Given the description of an element on the screen output the (x, y) to click on. 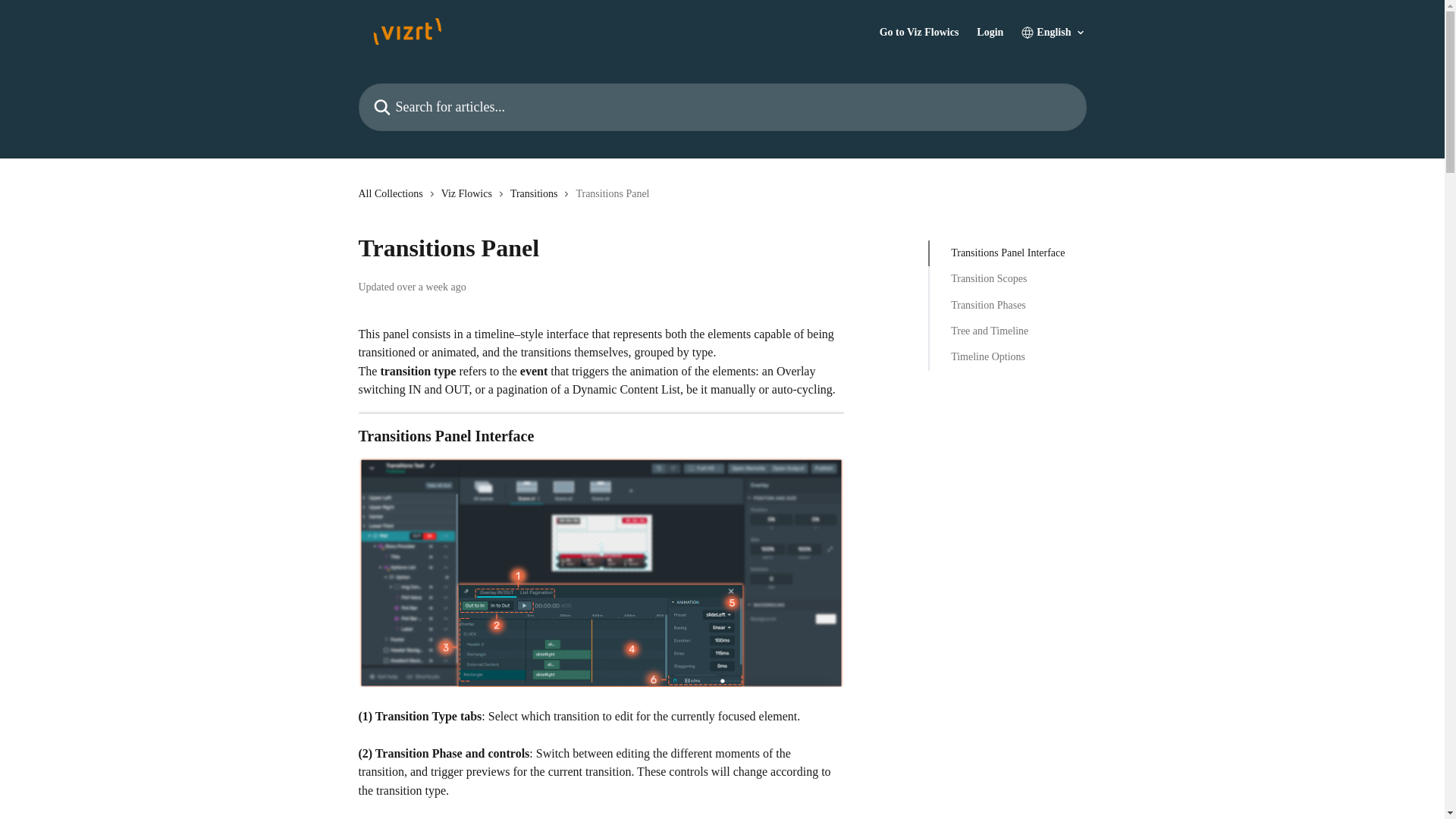
All Collections (393, 193)
Tree and Timeline (1007, 330)
Transitions (537, 193)
Transition Scopes (1007, 279)
Transition Phases (1007, 305)
Transitions Panel Interface (1007, 252)
Go to Viz Flowics (919, 32)
Timeline Options (1007, 356)
Login (989, 32)
Viz Flowics (469, 193)
